Given the description of an element on the screen output the (x, y) to click on. 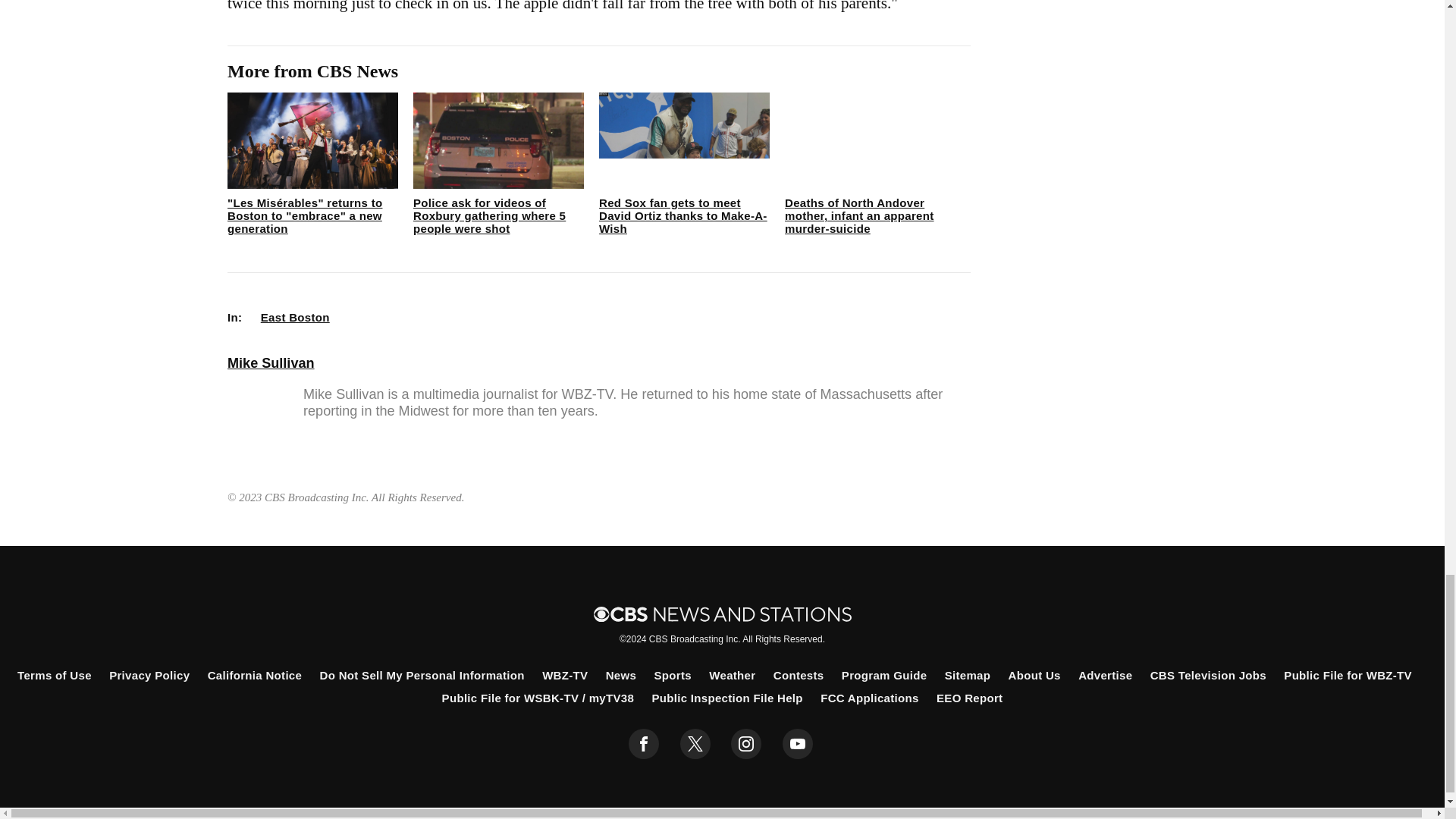
instagram (745, 743)
facebook (643, 743)
twitter (694, 743)
youtube (797, 743)
